Given the description of an element on the screen output the (x, y) to click on. 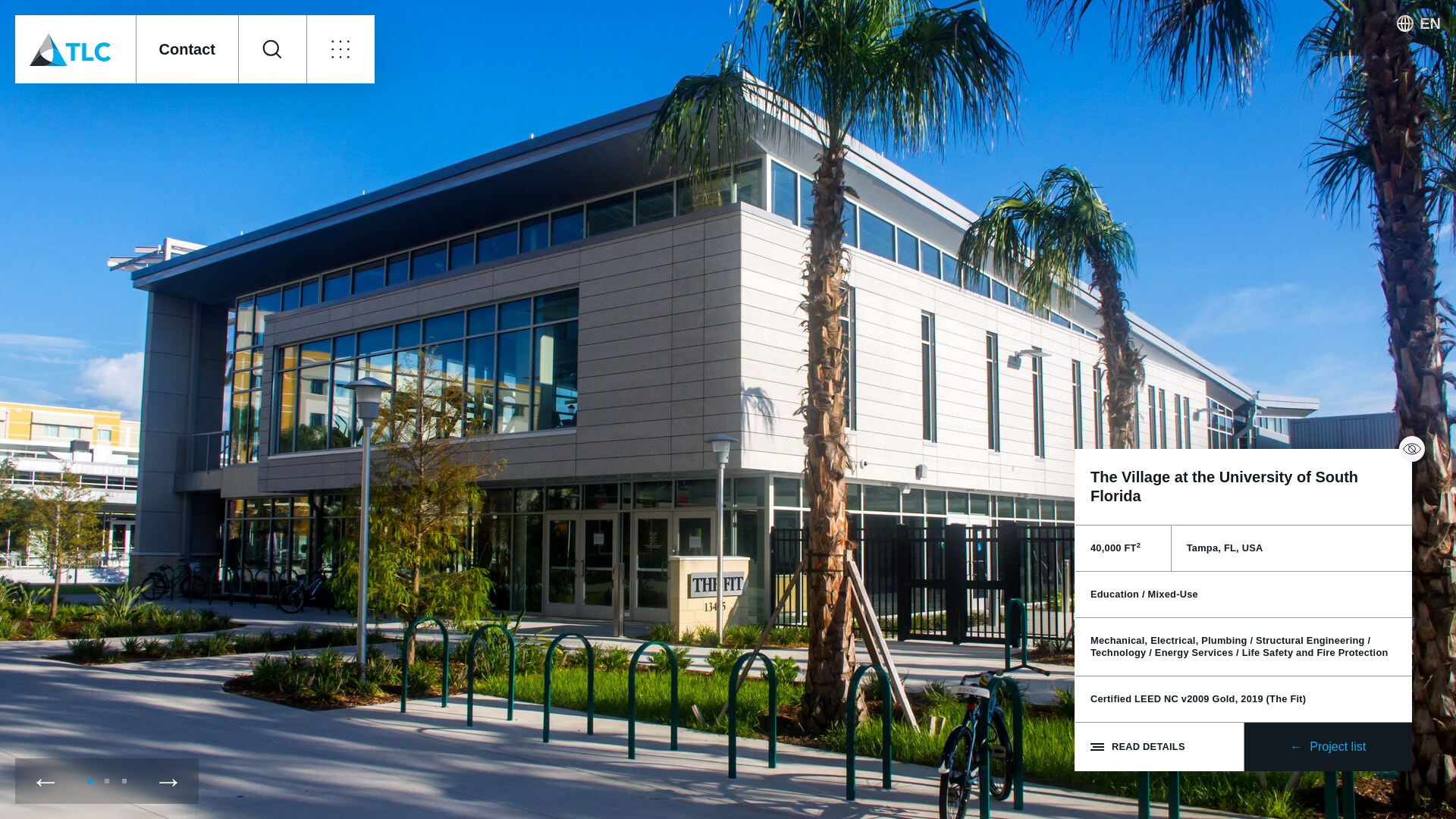
Contact (186, 49)
Home (74, 49)
